Given the description of an element on the screen output the (x, y) to click on. 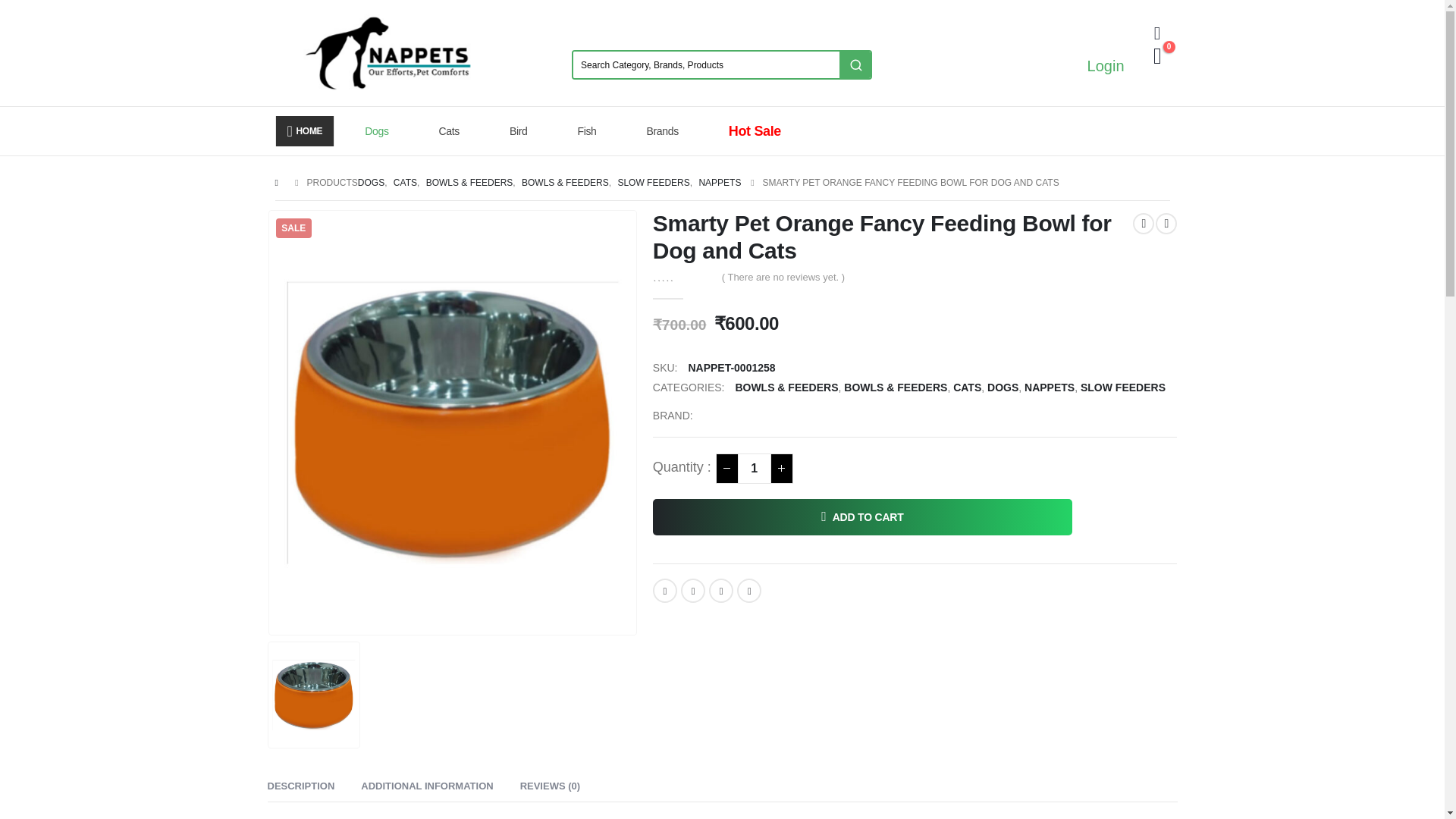
Qty (754, 468)
Twitter (692, 590)
Dogs (381, 131)
Nappets India - A Complete Pet Store. (386, 52)
1 (754, 468)
My Account (1157, 33)
Login (1105, 76)
0 (681, 276)
LinkedIn (721, 590)
Search Category, Brands, Products (706, 64)
